Given the description of an element on the screen output the (x, y) to click on. 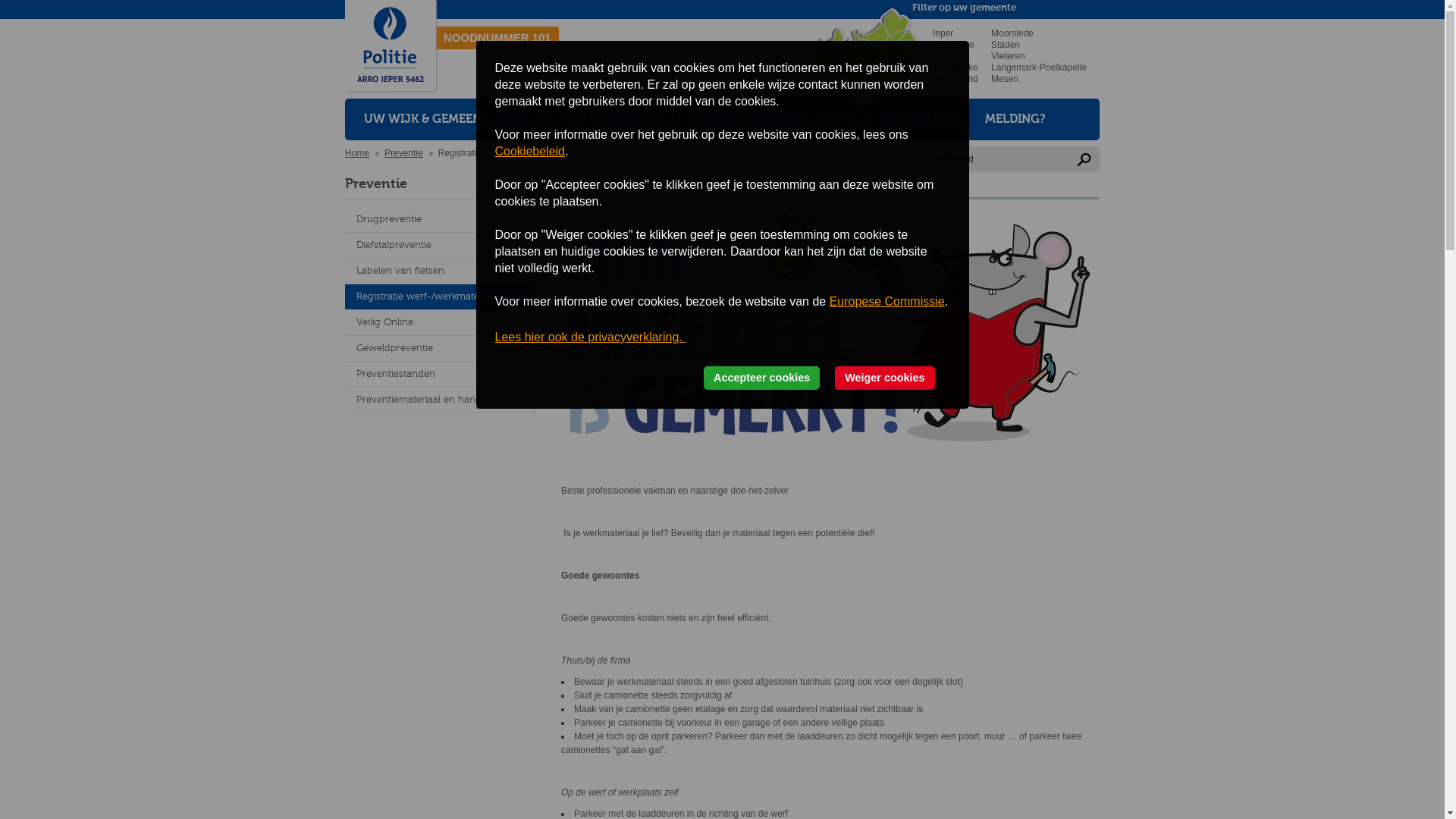
Diefstalpreventie Element type: text (439, 245)
  Element type: text (905, 46)
Geweldpreventie Element type: text (439, 348)
  Element type: text (905, 63)
MELDING? Element type: text (1015, 118)
Preventiestanden Element type: text (439, 374)
Heuvelland Element type: text (955, 78)
Staden Element type: text (1005, 44)
INFO Element type: text (749, 118)
Politie arro ieper 5462 Element type: hover (390, 45)
Veilig Online Element type: text (439, 322)
Cookiebeleid Element type: text (529, 150)
  Element type: text (894, 23)
Langemark-Poelkapelle Element type: text (1038, 67)
  Element type: text (891, 50)
Zonnebeke Element type: text (955, 67)
Vleteren Element type: text (1008, 55)
  Element type: text (832, 58)
  Element type: text (864, 52)
  Element type: text (840, 42)
Preventie Element type: text (403, 152)
Ieper Element type: text (942, 33)
  Element type: text (873, 36)
Mesen Element type: text (1004, 78)
WERKEN BIJ PZ ARRO IEPER Element type: text (874, 118)
  Element type: text (874, 84)
  Element type: text (856, 83)
SLACHTOFFER Element type: text (567, 118)
Weiger cookies Element type: text (884, 377)
UW WIJK & GEMEENTE Element type: text (429, 118)
Registratie werf-/werkmateriaal Element type: text (439, 297)
Poperinge Element type: text (953, 44)
Europese Commissie Element type: text (886, 300)
Accepteer cookies Element type: text (761, 377)
Labelen van fietsen Element type: text (439, 271)
Wervik Element type: text (946, 55)
Lees hier ook de privacyverklaring.  Element type: text (589, 336)
Preventiemateriaal en handige links Element type: text (439, 400)
gemerkt Element type: hover (827, 330)
Home Element type: text (357, 152)
Moorslede Element type: text (1012, 33)
Drugpreventie Element type: text (439, 219)
PREVENTIE Element type: text (672, 118)
